Given the description of an element on the screen output the (x, y) to click on. 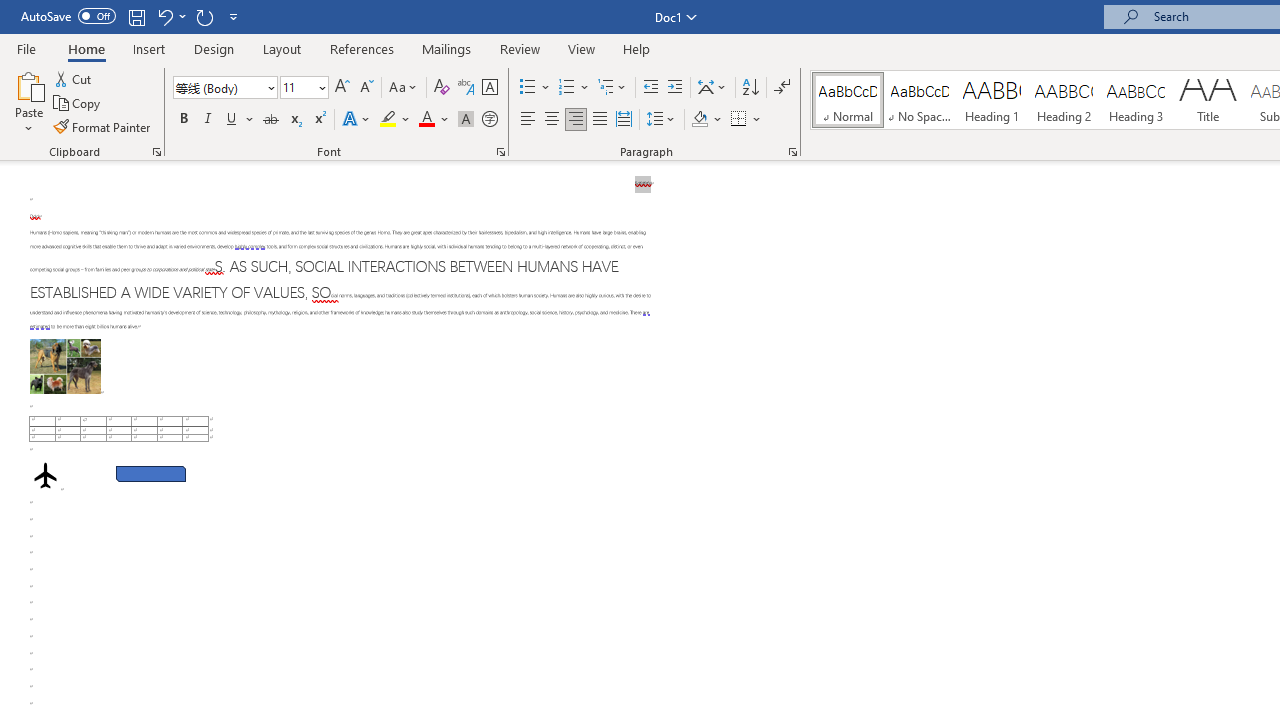
Undo Paragraph Alignment (170, 15)
